Given the description of an element on the screen output the (x, y) to click on. 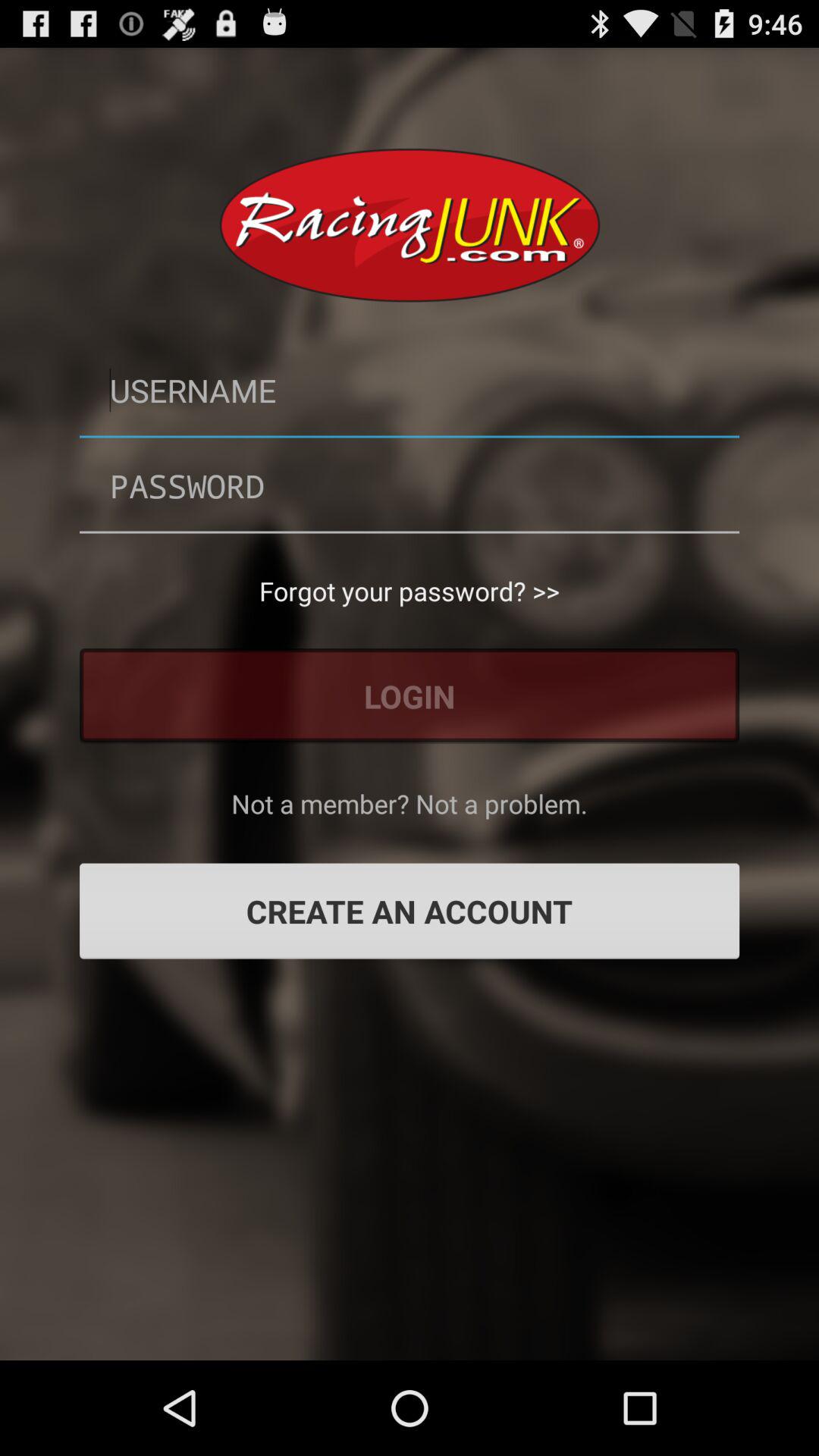
click icon above not a member (409, 695)
